Given the description of an element on the screen output the (x, y) to click on. 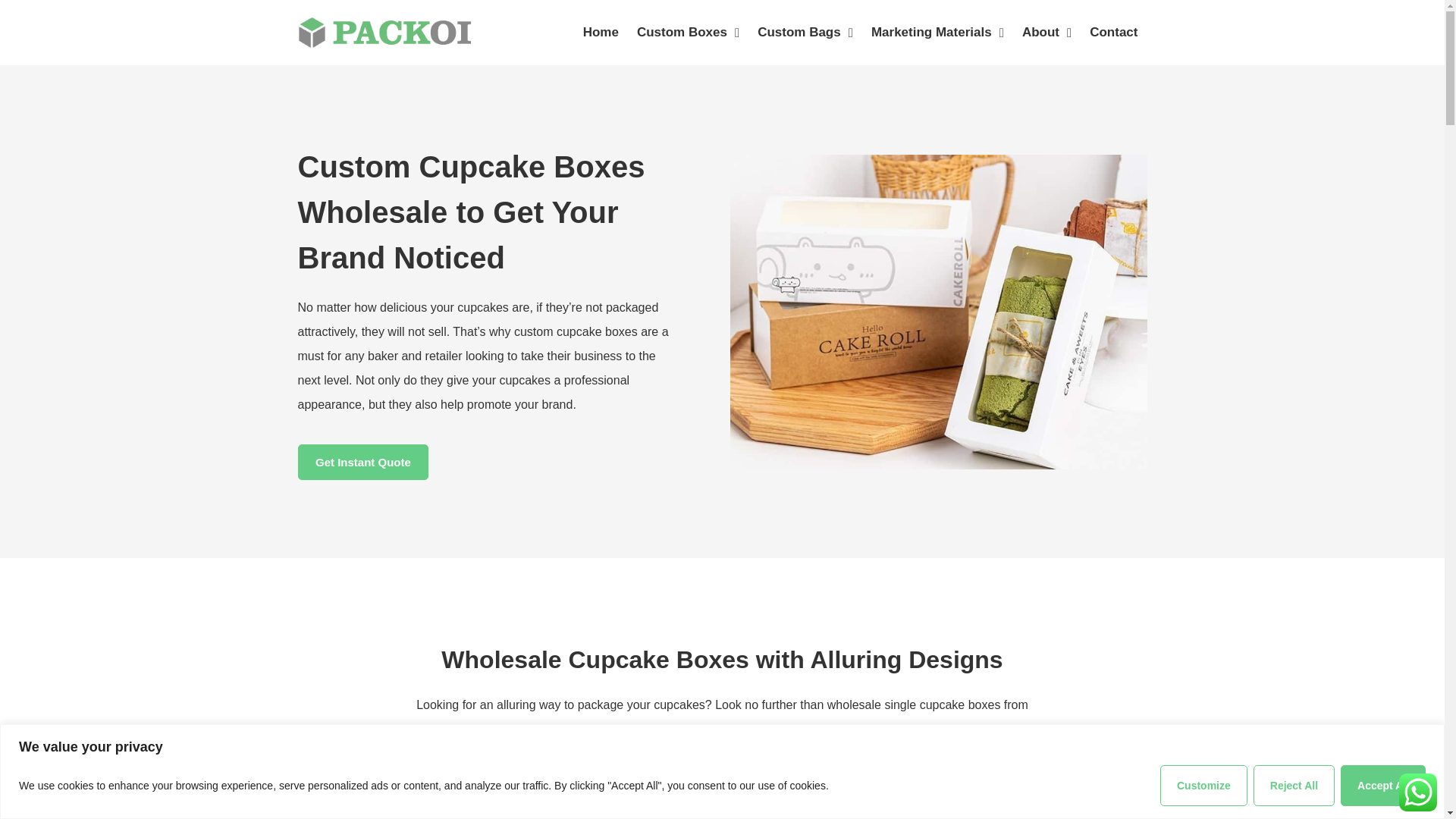
About (1046, 32)
Accept All (1382, 784)
Reject All (1294, 784)
Marketing Materials (937, 32)
Custom Bags (804, 32)
Customize (1203, 784)
Custom Boxes (687, 32)
Contact (1113, 32)
Home (600, 32)
